Given the description of an element on the screen output the (x, y) to click on. 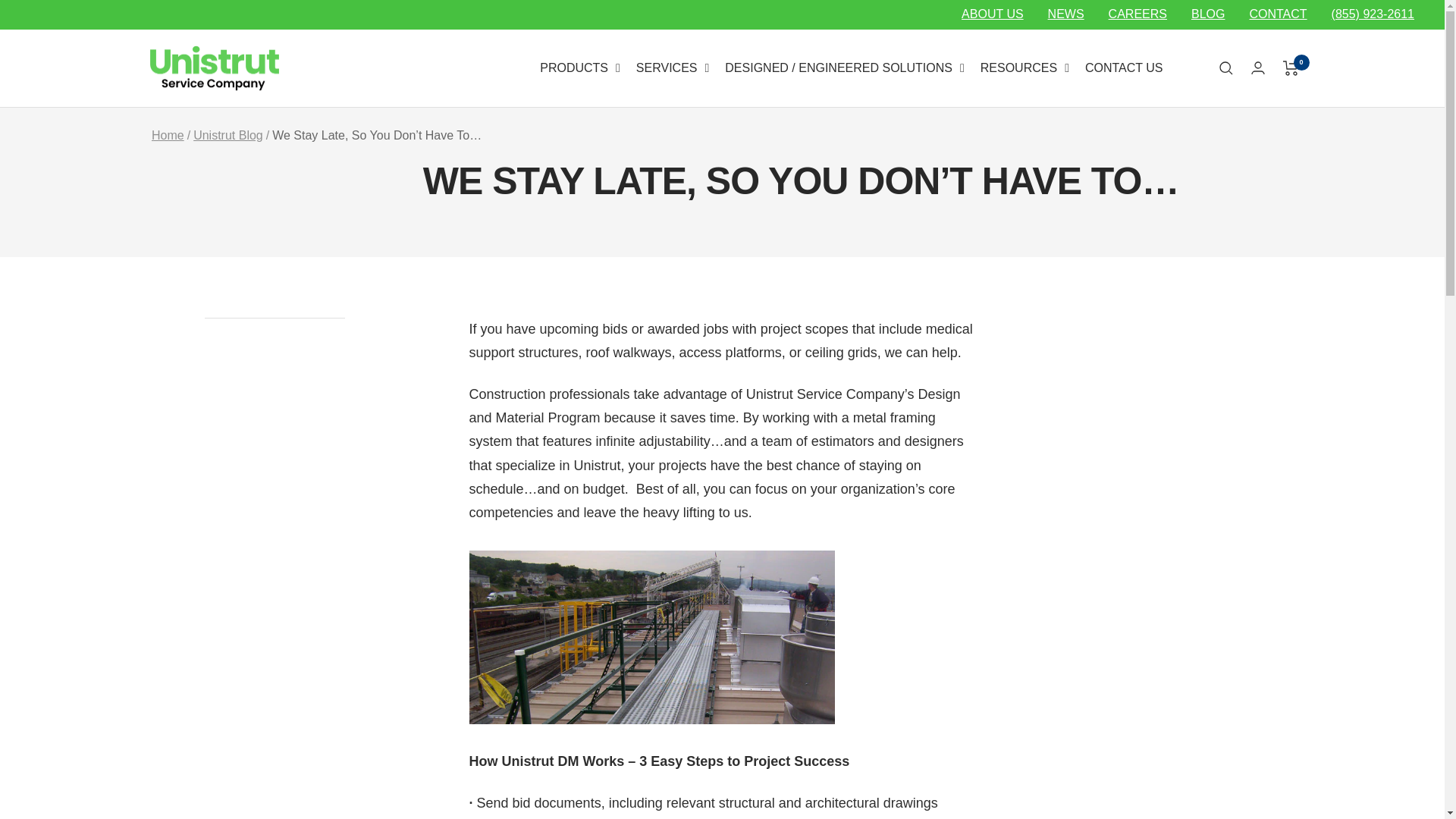
CAREERS (1137, 14)
NEWS (1066, 14)
BLOG (1207, 14)
CONTACT (1277, 14)
PRODUCTS (579, 68)
PRODUCTS (579, 68)
ABOUT US (991, 14)
